Given the description of an element on the screen output the (x, y) to click on. 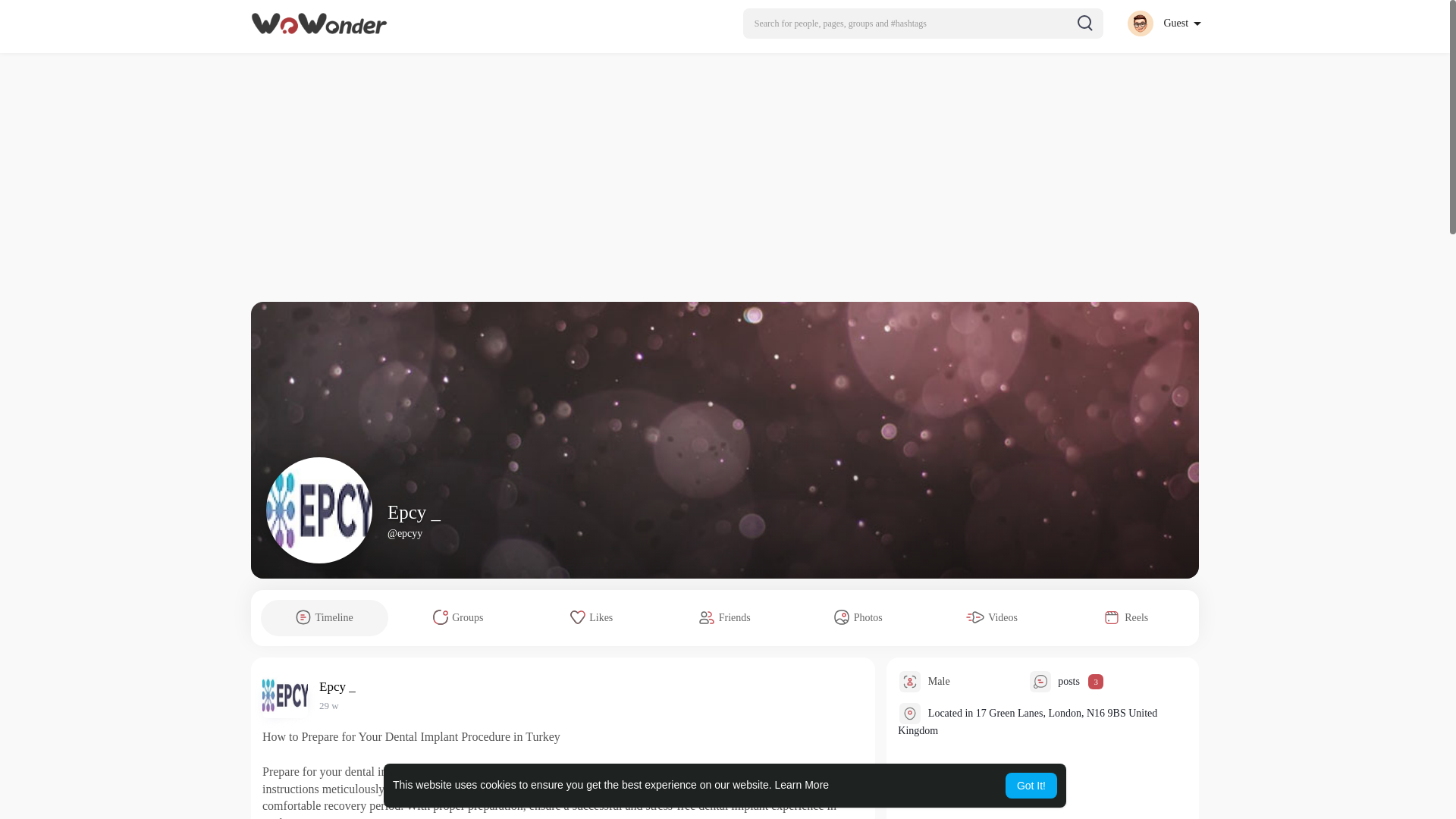
Timeline (324, 617)
29 w (328, 705)
Learn More (801, 784)
Friends (725, 617)
Photos (857, 617)
29 w (328, 705)
Groups (457, 617)
Reels (1125, 617)
Guest (1163, 23)
Got It! (1031, 785)
Likes (591, 617)
Videos (991, 617)
